Given the description of an element on the screen output the (x, y) to click on. 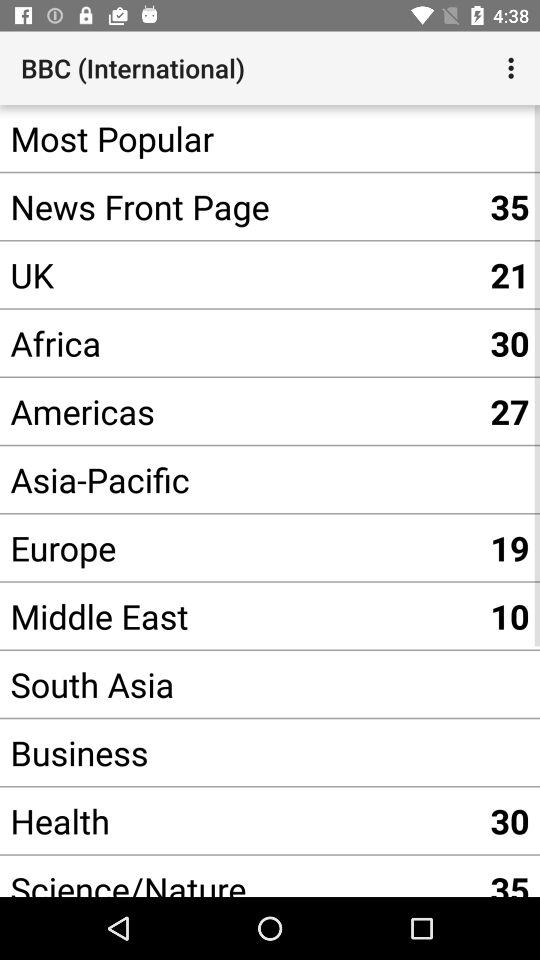
turn off item to the right of the asia-pacific icon (510, 547)
